Given the description of an element on the screen output the (x, y) to click on. 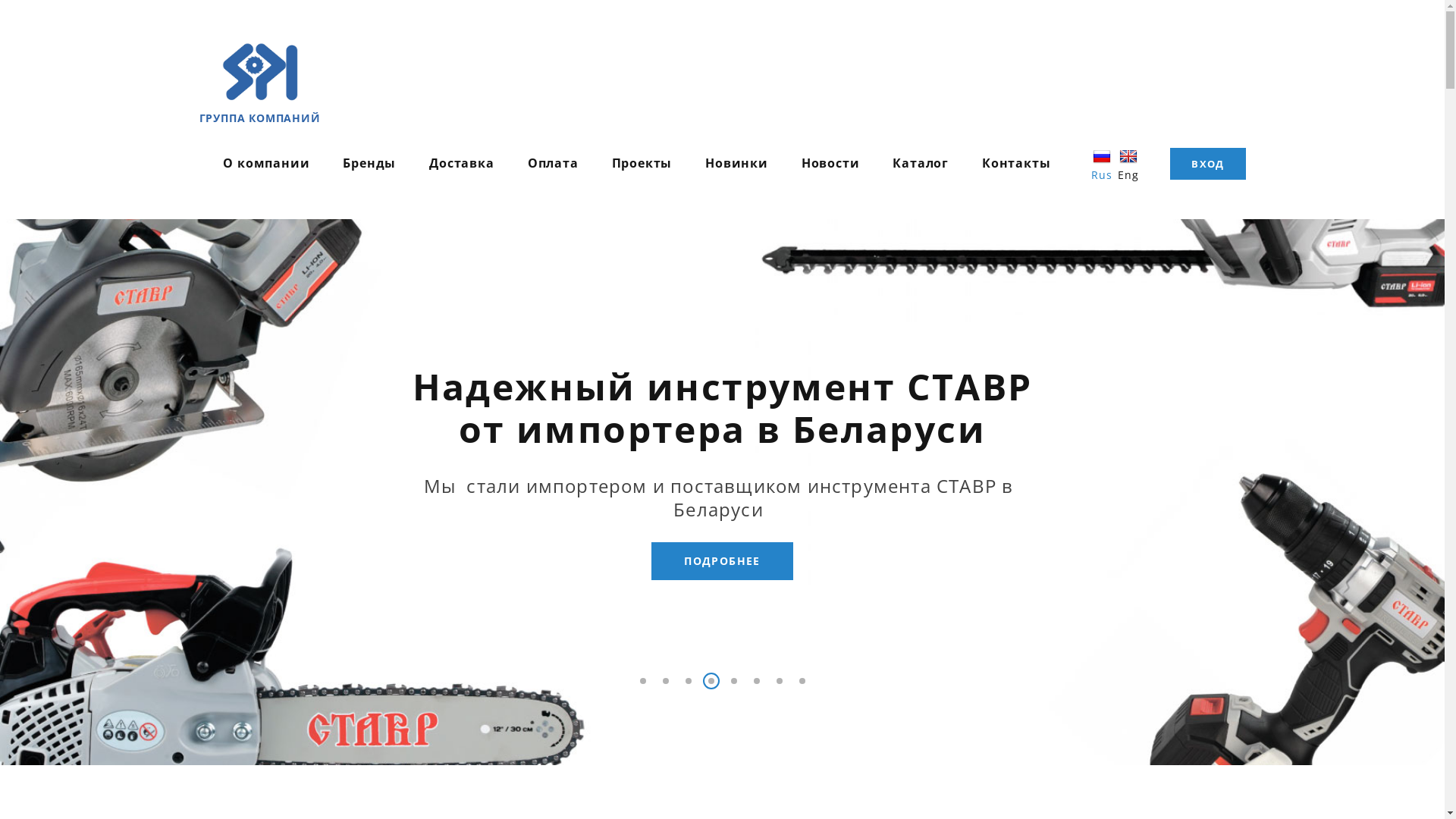
Eng Element type: text (1127, 163)
Rus Element type: text (1102, 163)
